Given the description of an element on the screen output the (x, y) to click on. 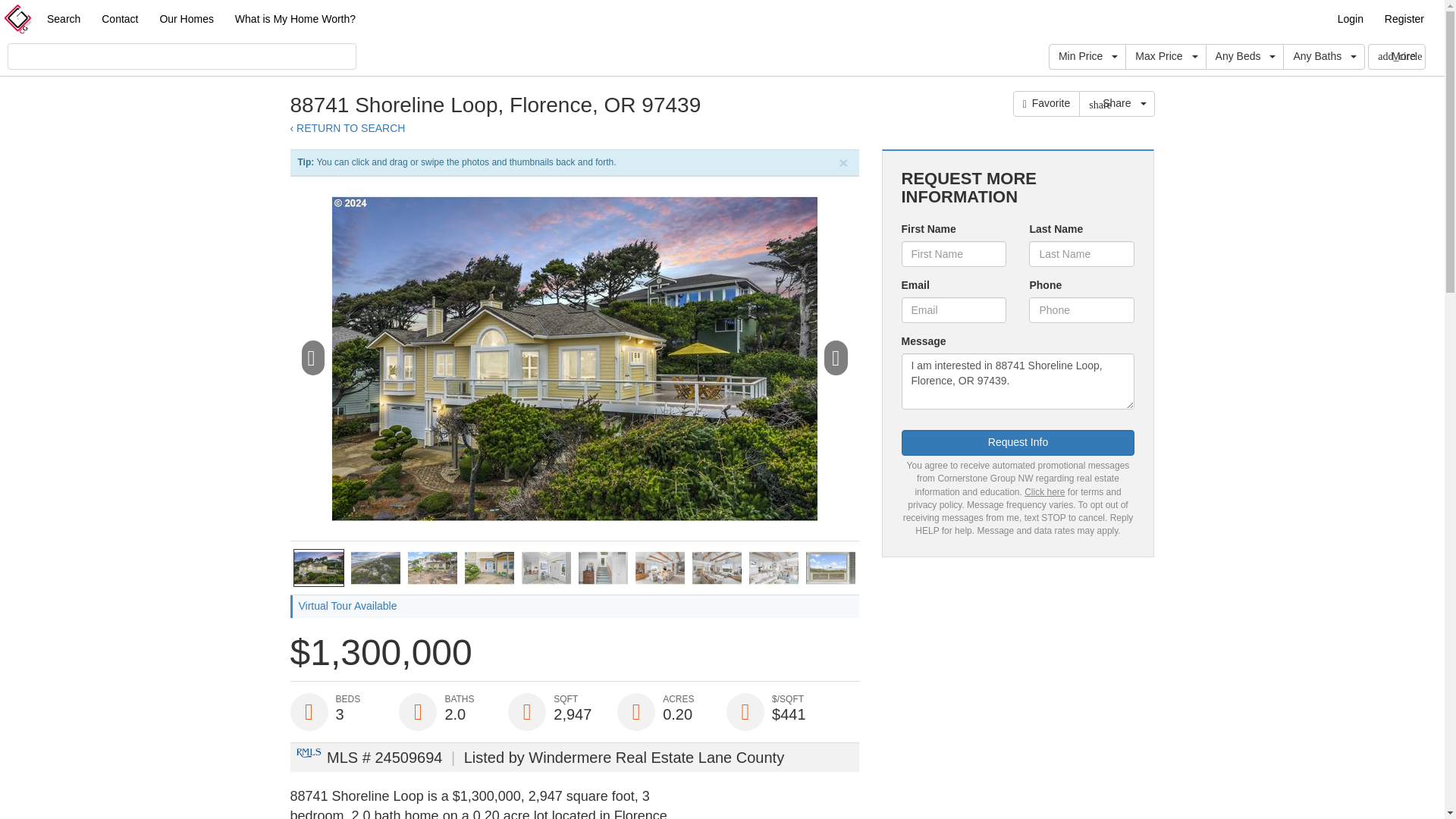
Our Homes (185, 18)
Min Price (1086, 56)
Search (62, 18)
Login (1350, 18)
Register (1403, 18)
What is My Home Worth? (295, 18)
Contact (120, 18)
